Given the description of an element on the screen output the (x, y) to click on. 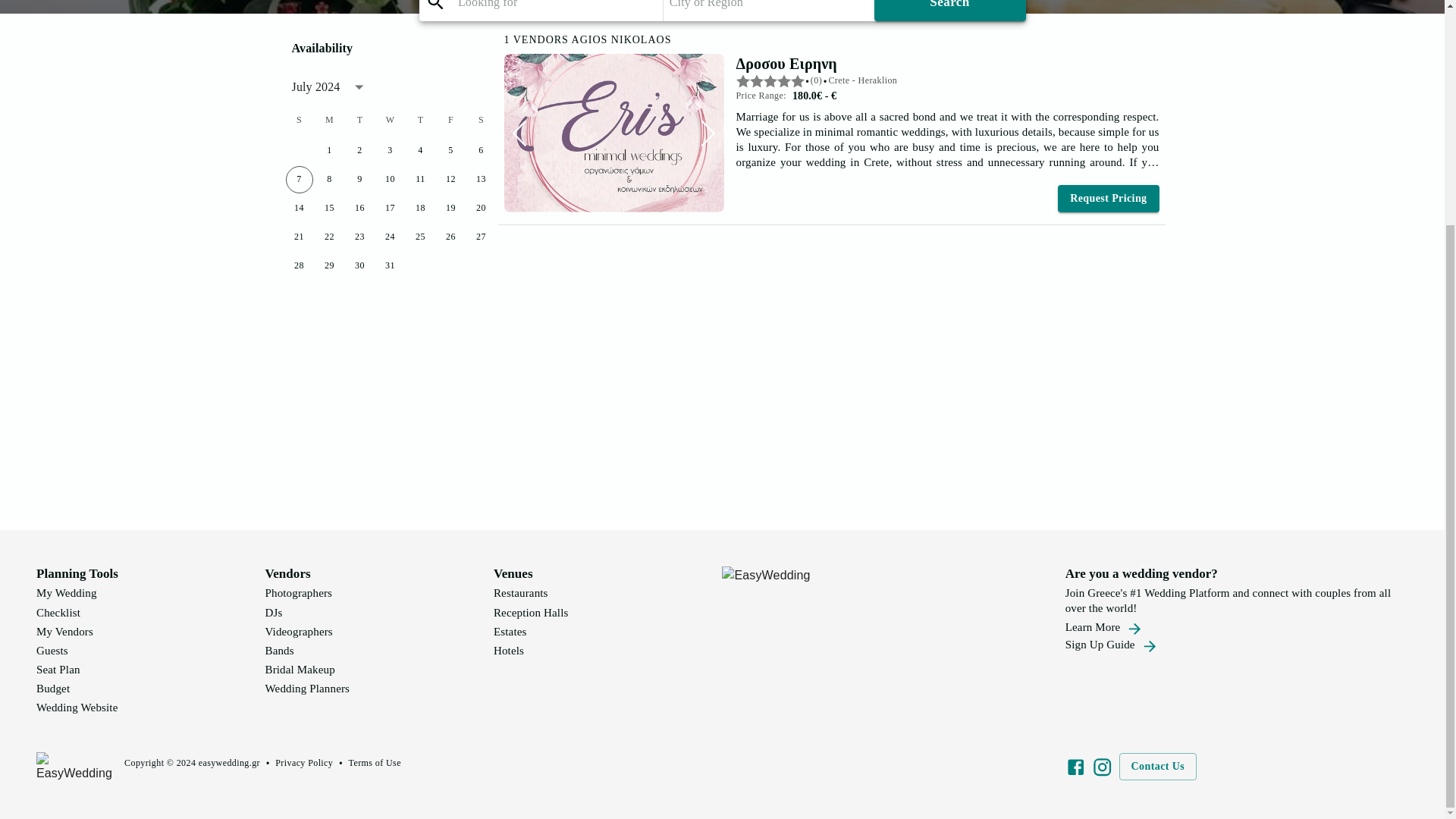
26 (450, 236)
25 (419, 236)
22 (328, 236)
12 (450, 179)
5 (450, 150)
18 (419, 207)
2 (359, 150)
19 (450, 207)
14 (299, 207)
6 (481, 150)
3 (389, 150)
17 (389, 207)
24 (389, 236)
15 (328, 207)
10 (389, 179)
